Given the description of an element on the screen output the (x, y) to click on. 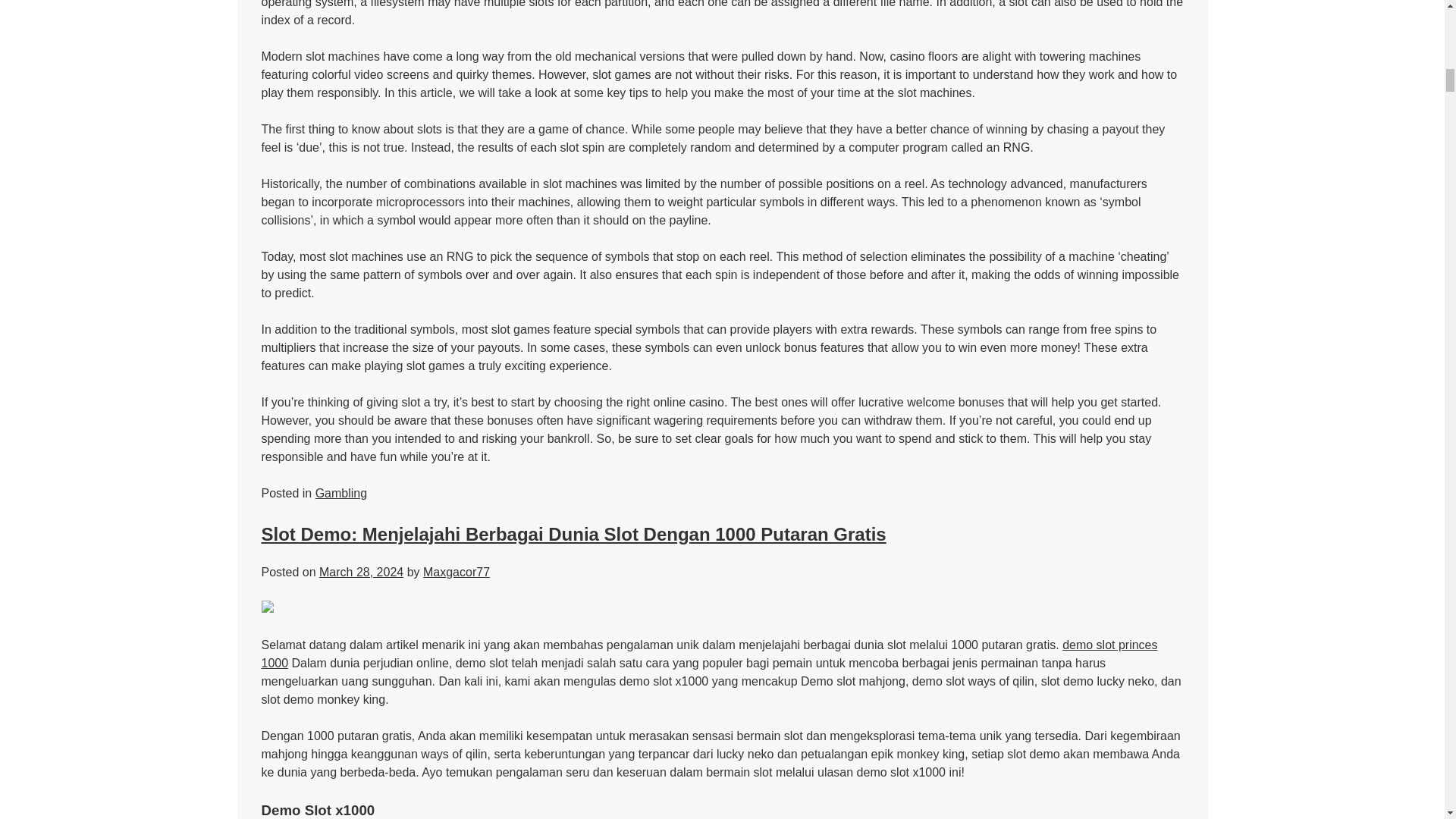
Gambling (340, 492)
Maxgacor77 (456, 571)
demo slot princes 1000 (708, 653)
March 28, 2024 (360, 571)
